Given the description of an element on the screen output the (x, y) to click on. 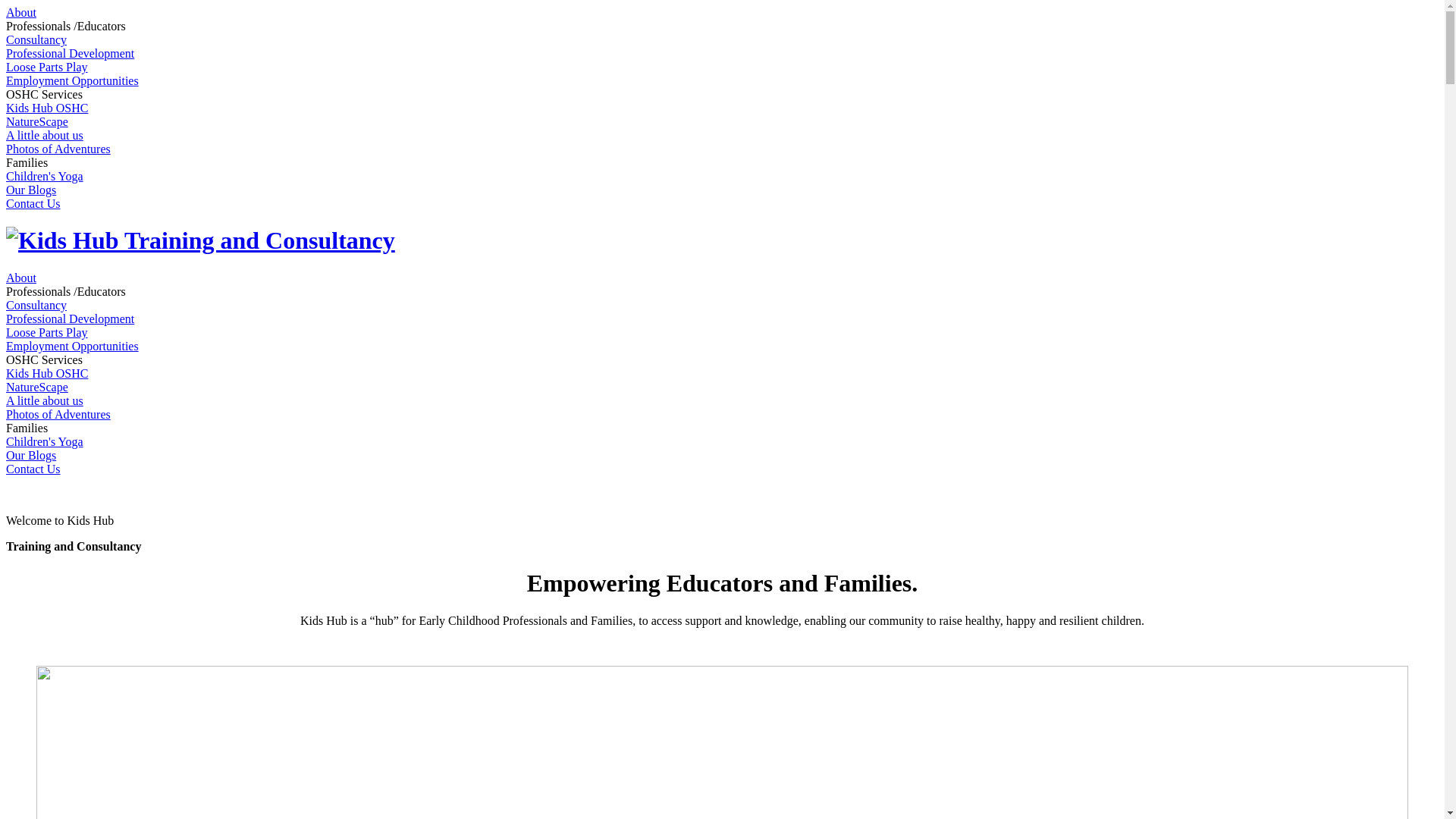
Loose Parts Play Element type: text (46, 66)
NatureScape Element type: text (37, 386)
Contact Us Element type: text (33, 468)
Employment Opportunities Element type: text (72, 80)
Professional Development Element type: text (70, 318)
Kids Hub OSHC Element type: text (46, 107)
Loose Parts Play Element type: text (46, 332)
Professional Development Element type: text (70, 53)
A little about us Element type: text (44, 134)
Children's Yoga Element type: text (44, 441)
Our Blogs Element type: text (31, 454)
Photos of Adventures Element type: text (58, 413)
Contact Us Element type: text (33, 203)
Consultancy Element type: text (36, 39)
Photos of Adventures Element type: text (58, 148)
Children's Yoga Element type: text (44, 175)
Our Blogs Element type: text (31, 189)
About Element type: text (21, 277)
A little about us Element type: text (44, 400)
Kids Hub OSHC Element type: text (46, 373)
About Element type: text (21, 12)
Consultancy Element type: text (36, 304)
Employment Opportunities Element type: text (72, 345)
NatureScape Element type: text (37, 121)
